Given the description of an element on the screen output the (x, y) to click on. 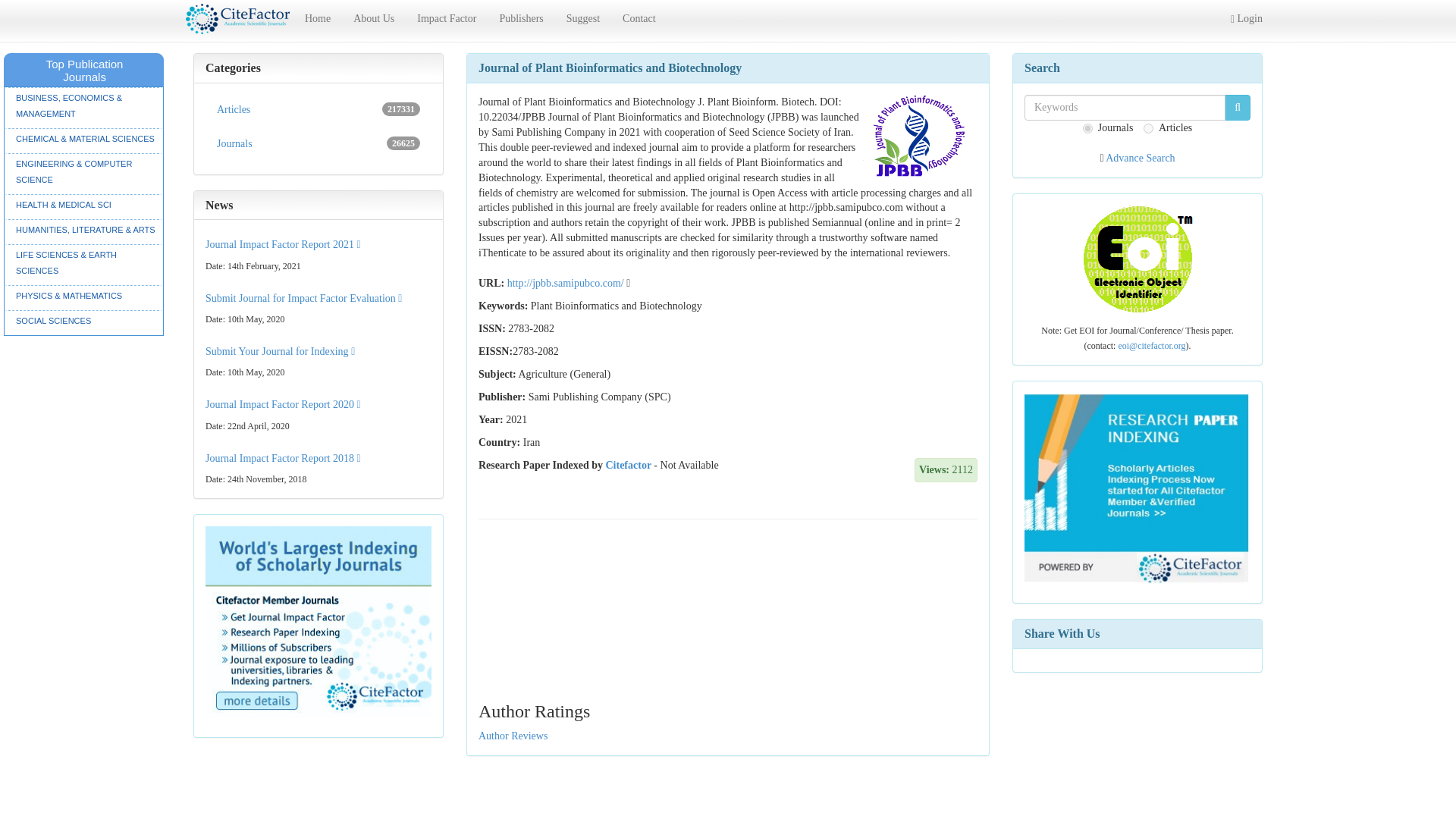
Citefactor Research paper indexing (1137, 488)
SOCIAL SCIENCES (83, 320)
Submit Your Journal for Indexing (280, 351)
articles (1147, 128)
Contact (317, 110)
Journal Impact Factor Report 2021 (638, 18)
Suggest (317, 143)
Citefactor (283, 244)
